Given the description of an element on the screen output the (x, y) to click on. 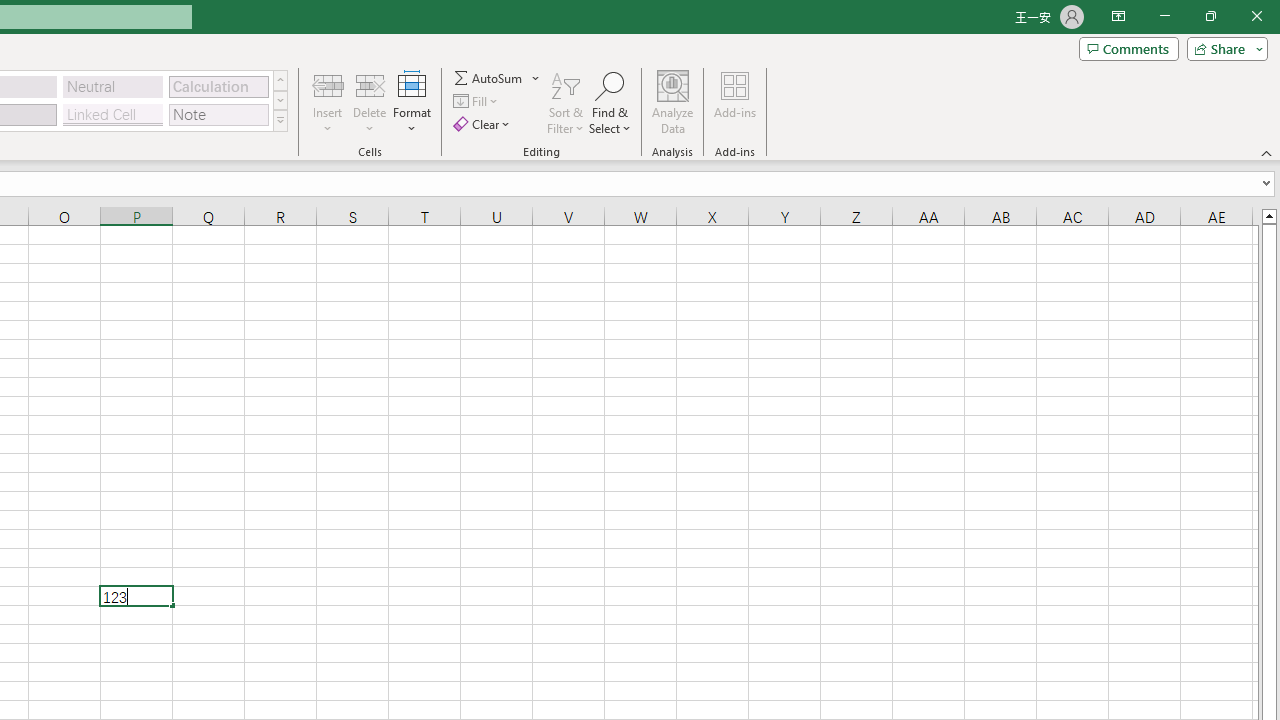
Fill (477, 101)
Sum (489, 78)
